Given the description of an element on the screen output the (x, y) to click on. 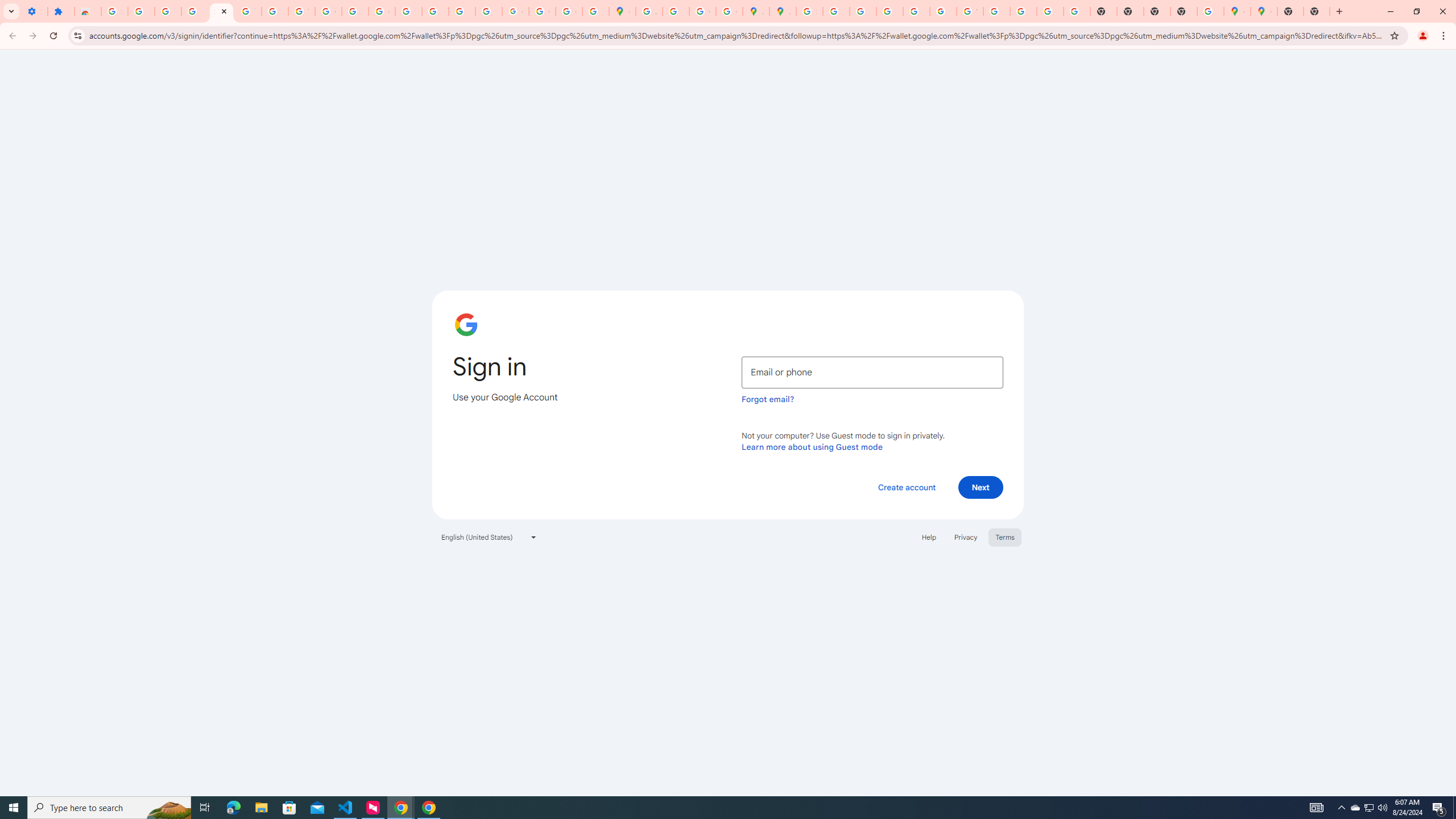
New Tab (1290, 11)
Google Maps (1263, 11)
YouTube (970, 11)
Delete photos & videos - Computer - Google Photos Help (141, 11)
YouTube (301, 11)
Reviews: Helix Fruit Jump Arcade Game (87, 11)
